Given the description of an element on the screen output the (x, y) to click on. 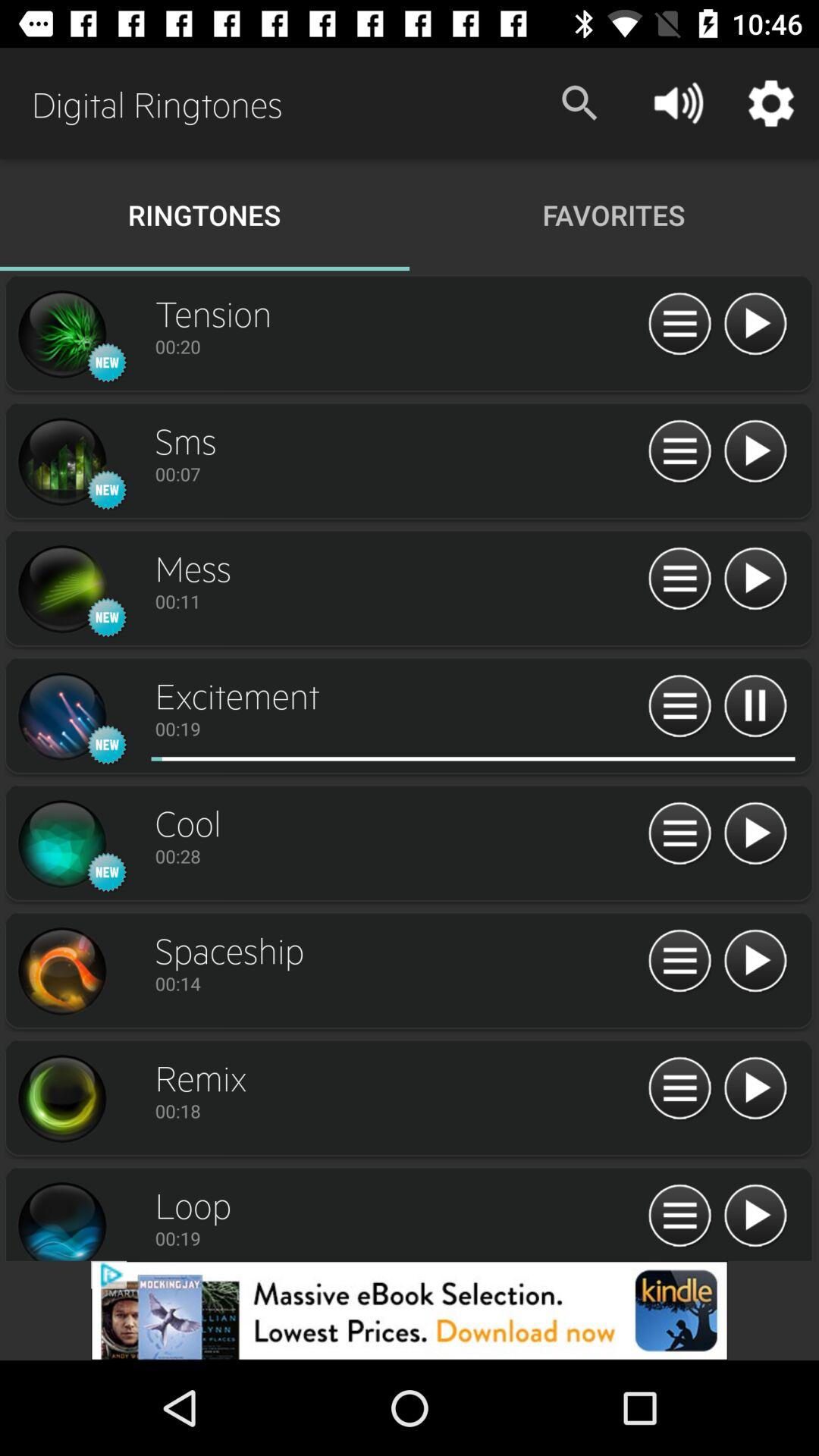
click loop arrow (755, 1216)
